Given the description of an element on the screen output the (x, y) to click on. 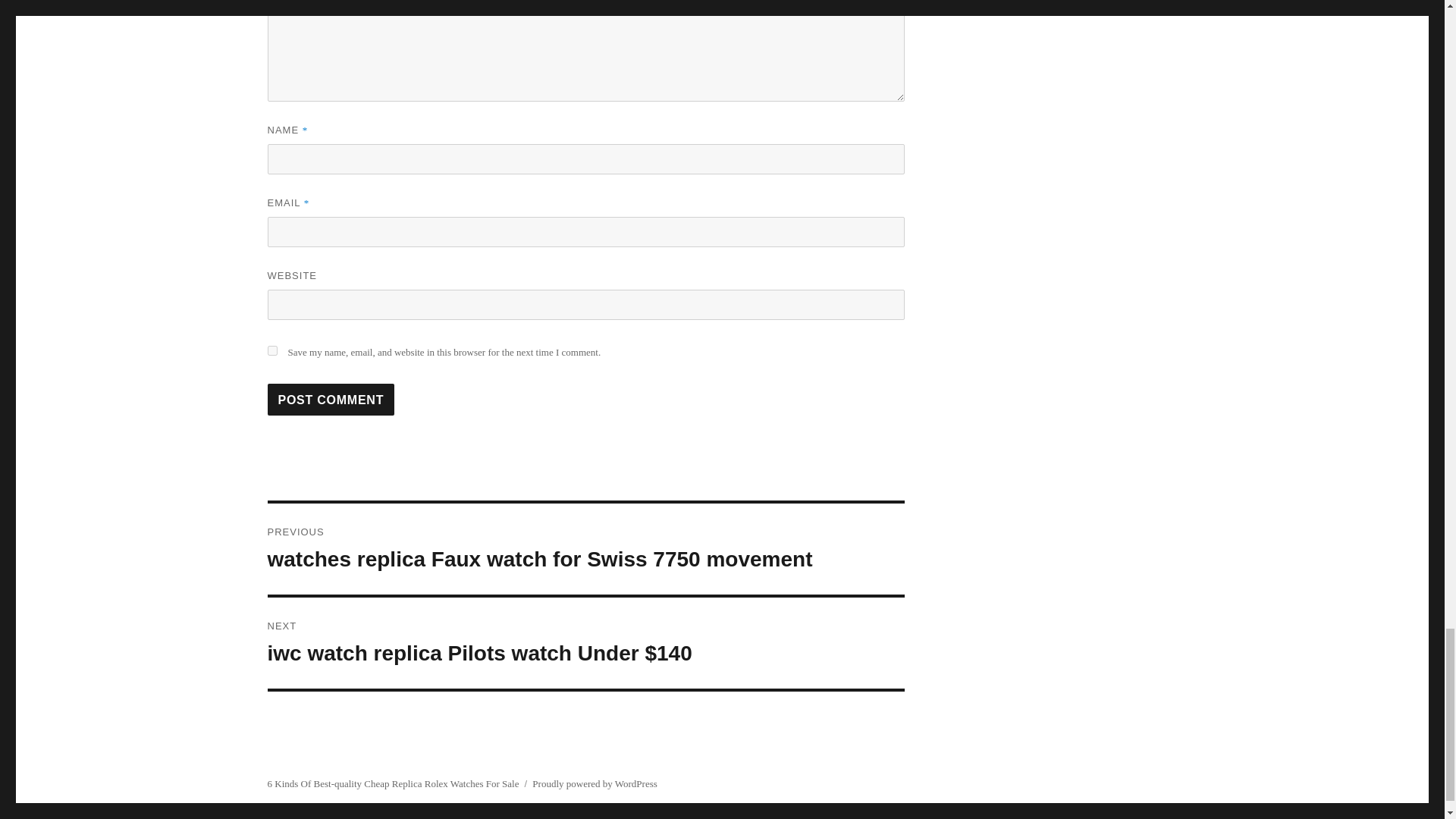
Post Comment (330, 399)
Post Comment (330, 399)
yes (271, 350)
